Given the description of an element on the screen output the (x, y) to click on. 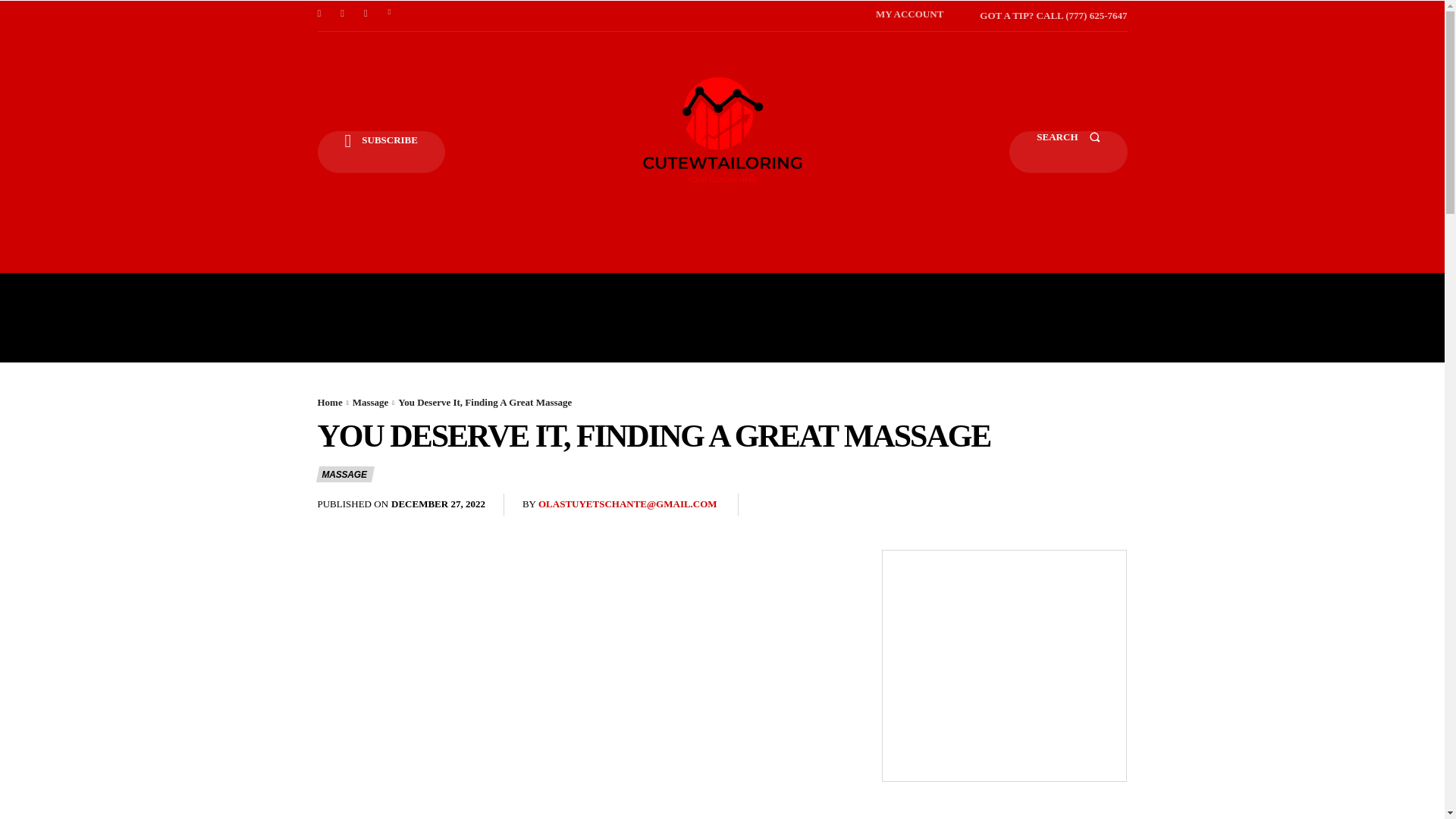
Twitter (389, 16)
Instagram (342, 16)
SUBSCRIBE (380, 151)
Facebook (318, 16)
View all posts in Massage (370, 401)
TikTok (366, 16)
SEARCH (1067, 151)
